Given the description of an element on the screen output the (x, y) to click on. 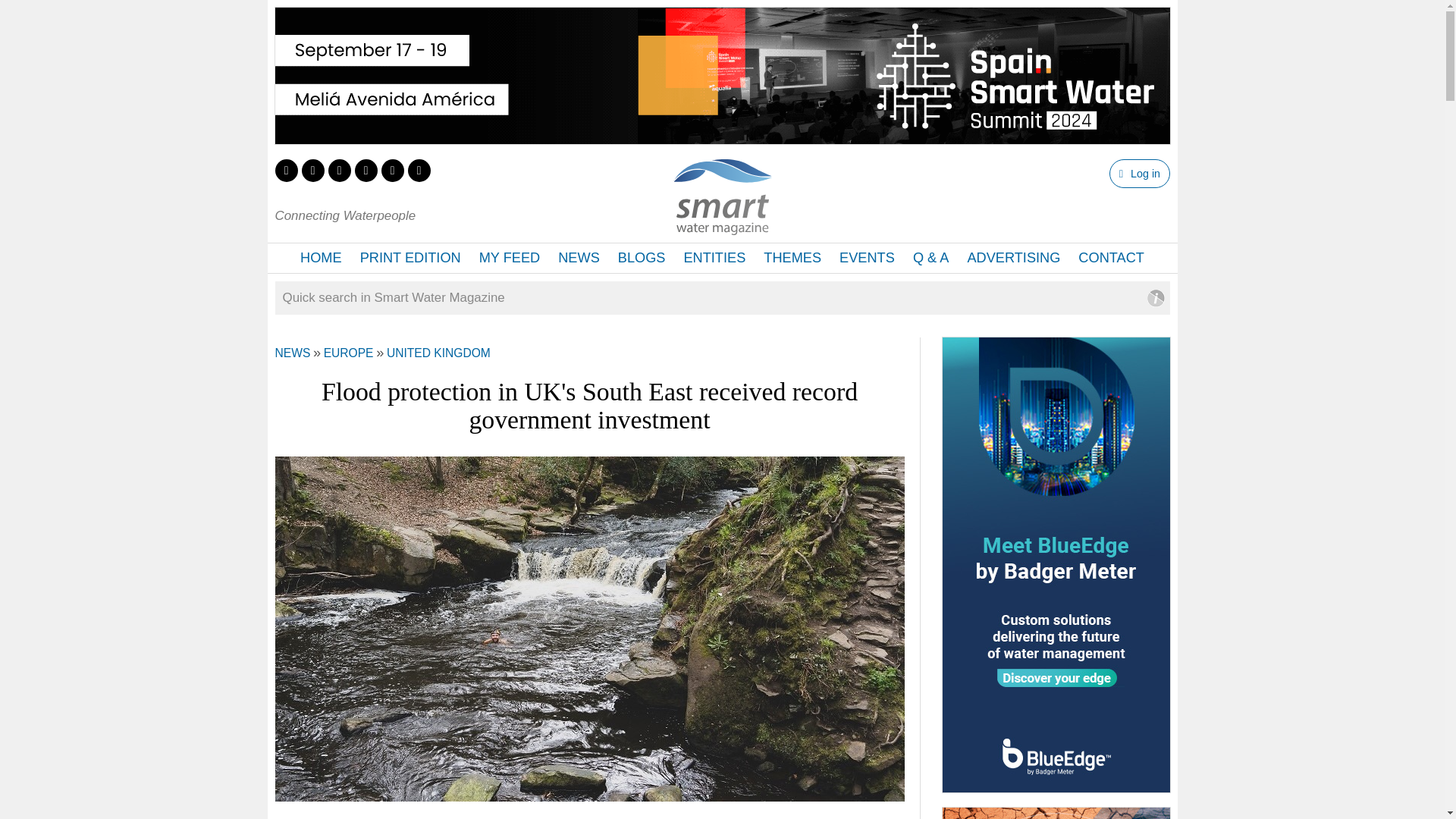
Follow us on Twitter (286, 169)
Log in (1139, 173)
Follow us on Instagram (366, 169)
Return to the Smart Water Magazine home page (721, 225)
BLOGS (641, 257)
Follow us on Linkedin (338, 169)
Follow us on Facebook (312, 169)
Skip to main content (677, 1)
EUROPE (348, 352)
Follow us on Youtube (391, 169)
